Given the description of an element on the screen output the (x, y) to click on. 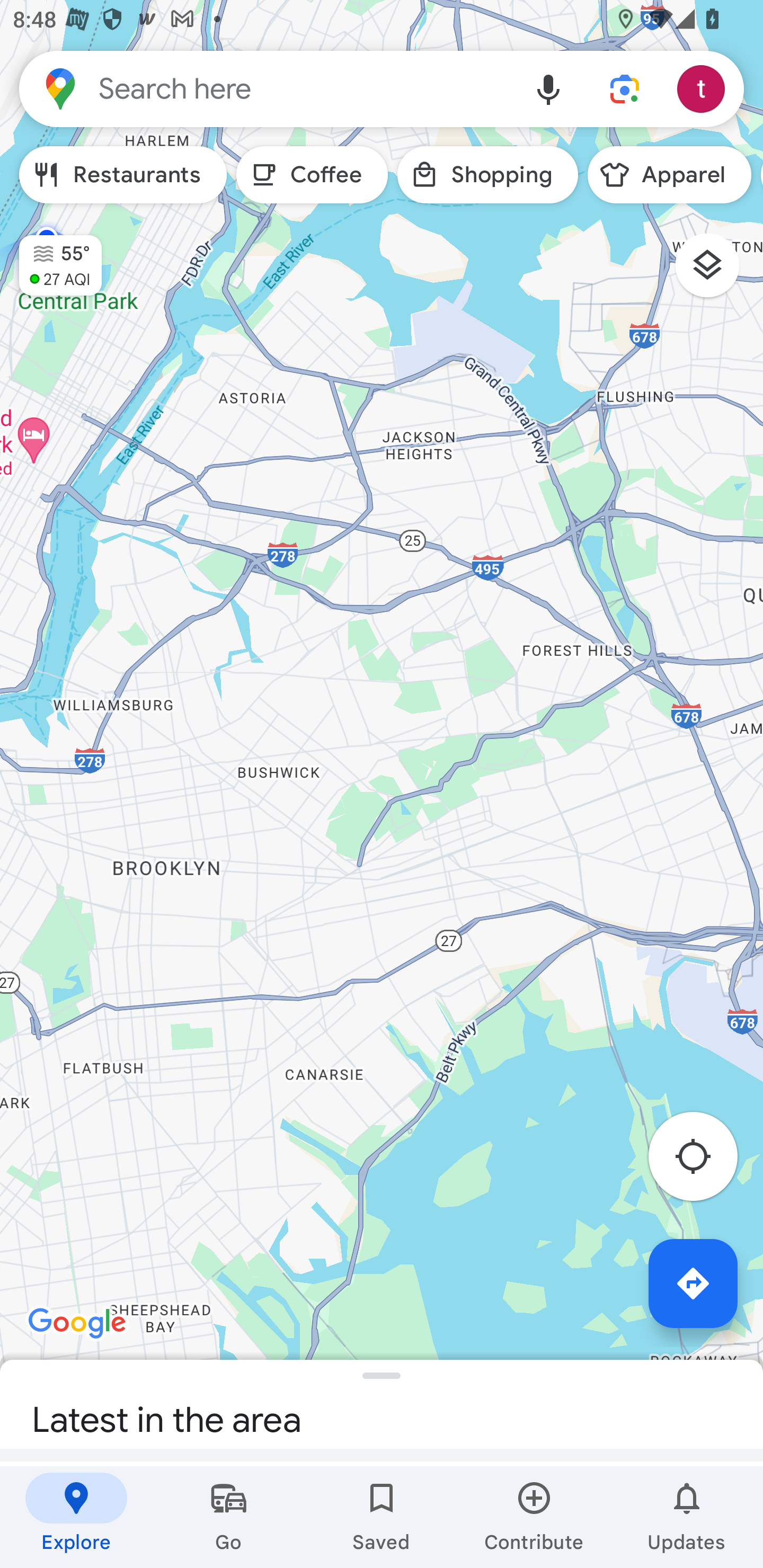
Search here (264, 88)
Voice search (548, 88)
Lens in Maps (624, 88)
Restaurants Search for Restaurants (122, 174)
Coffee Search for Coffee (311, 174)
Shopping Search for Shopping (487, 174)
Apparel Search for Apparel (669, 174)
Fog, 55°, Good, 27 AQI 55° 27 AQI (50, 257)
Layers (716, 271)
Re-center map to your location (702, 1161)
Directions (692, 1283)
Go (228, 1517)
Saved (381, 1517)
Contribute (533, 1517)
Updates (686, 1517)
